Given the description of an element on the screen output the (x, y) to click on. 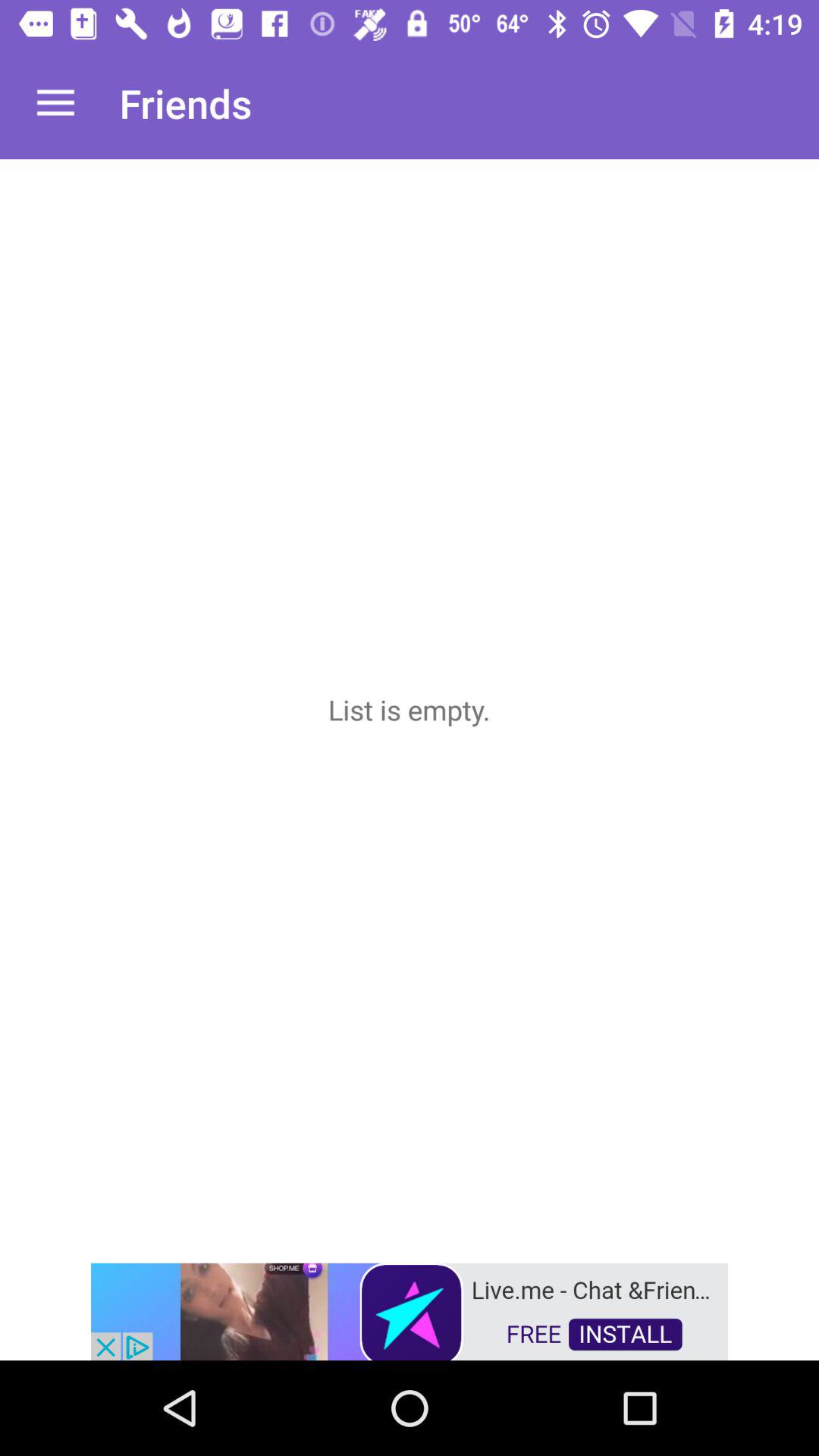
advertisement button (409, 1310)
